Given the description of an element on the screen output the (x, y) to click on. 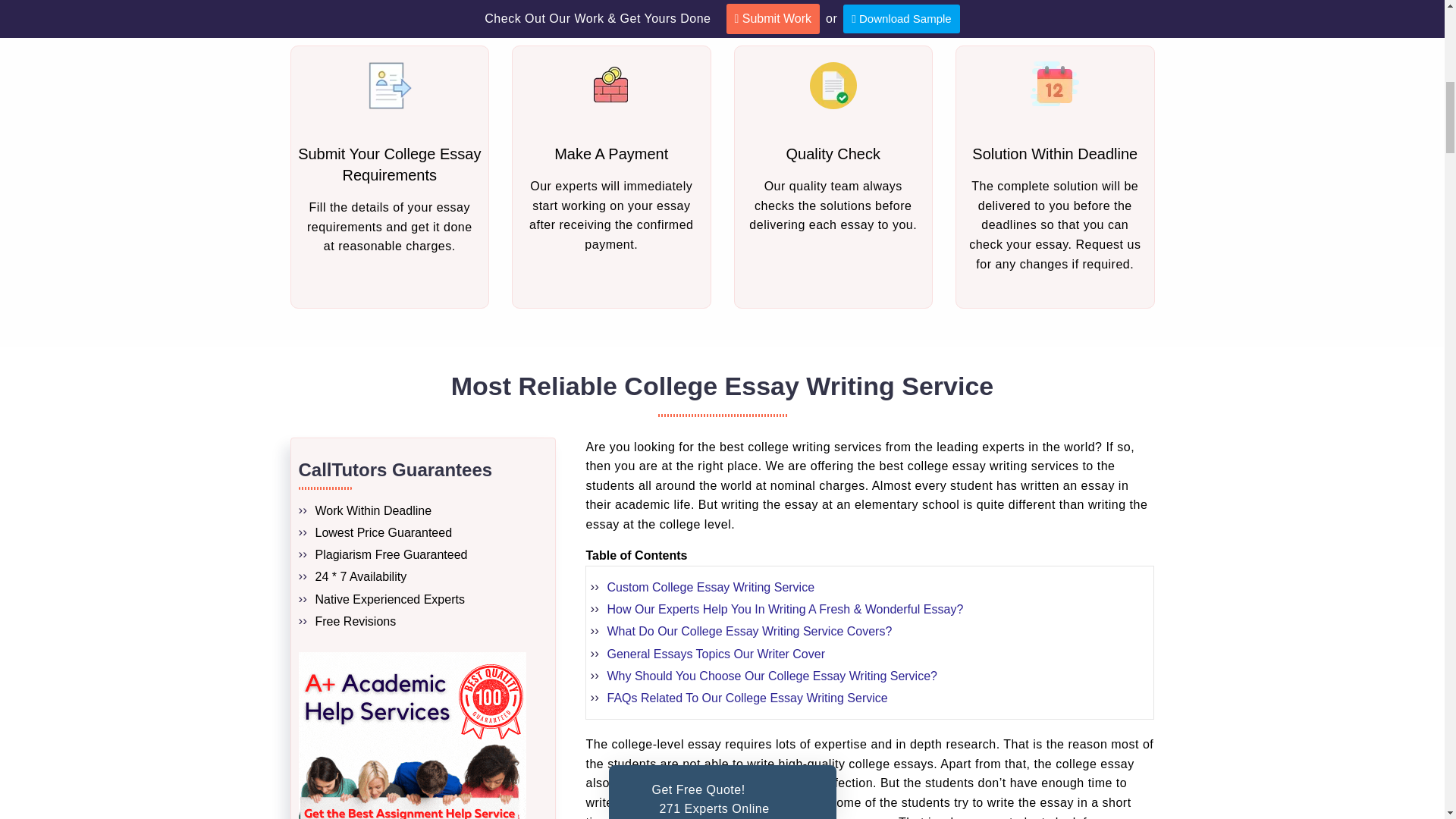
Why Should You Choose Our College Essay Writing Service? (771, 675)
General Essays Topics Our Writer Cover (716, 653)
Custom College Essay Writing Service (710, 586)
What Do Our College Essay Writing Service Covers? (749, 631)
